Given the description of an element on the screen output the (x, y) to click on. 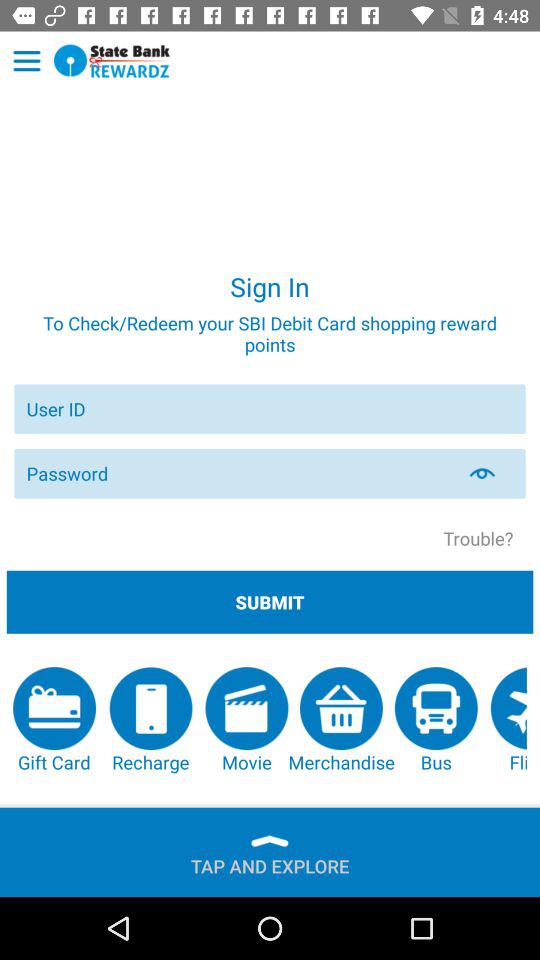
go to more options list (26, 61)
